Given the description of an element on the screen output the (x, y) to click on. 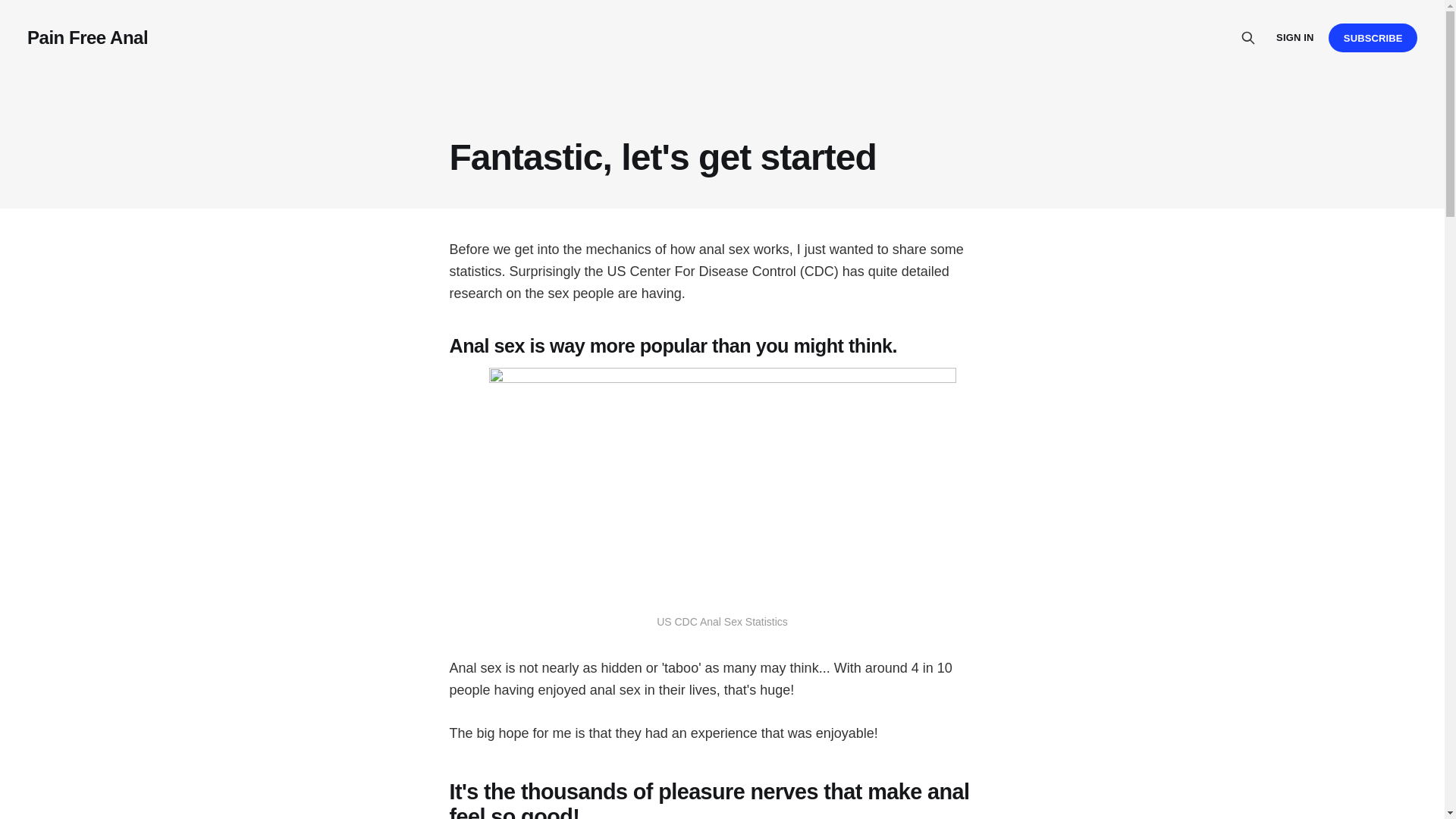
SIGN IN (1294, 37)
SUBSCRIBE (1371, 37)
Pain Free Anal (87, 37)
